Given the description of an element on the screen output the (x, y) to click on. 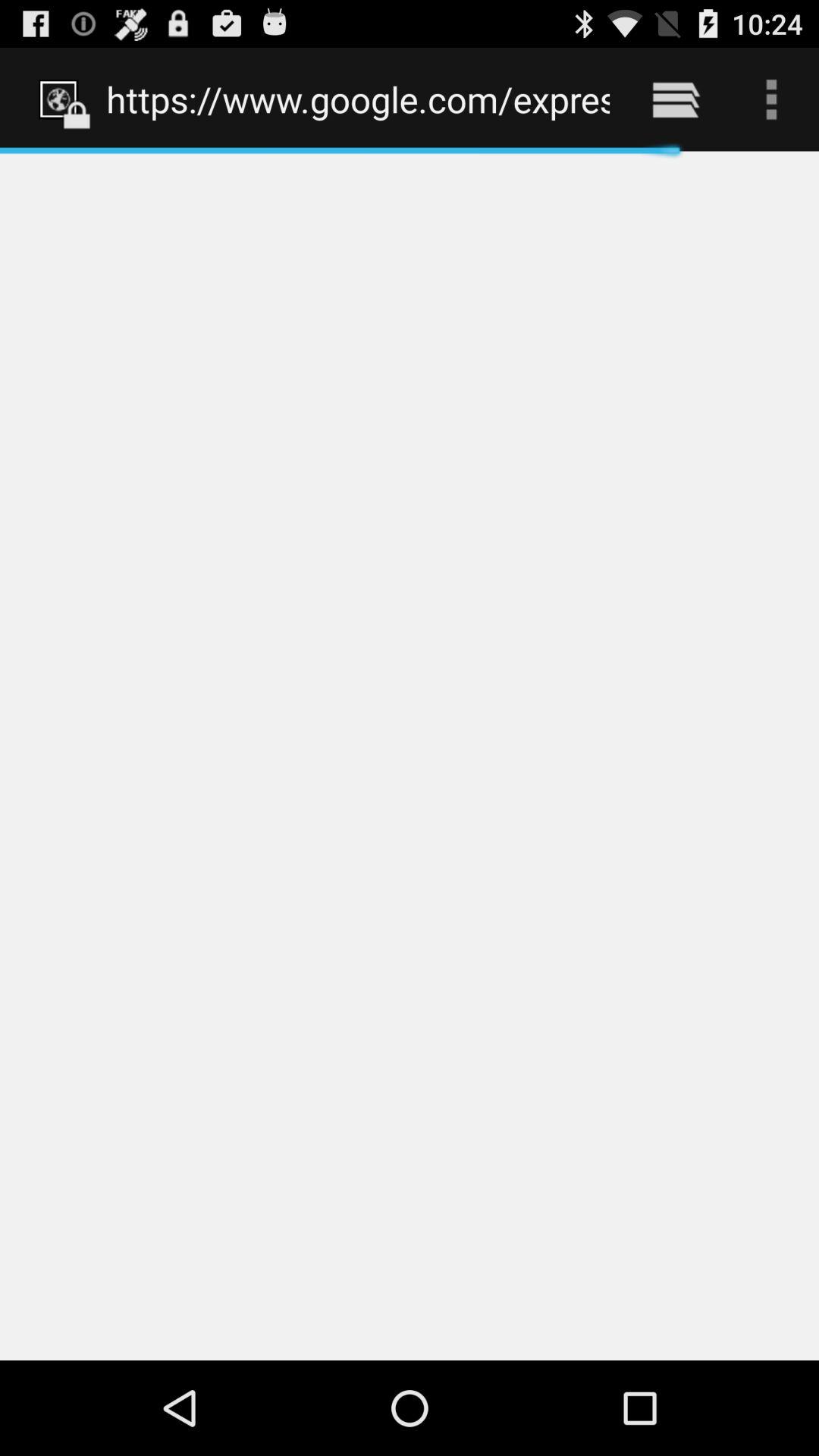
open item at the center (409, 755)
